Given the description of an element on the screen output the (x, y) to click on. 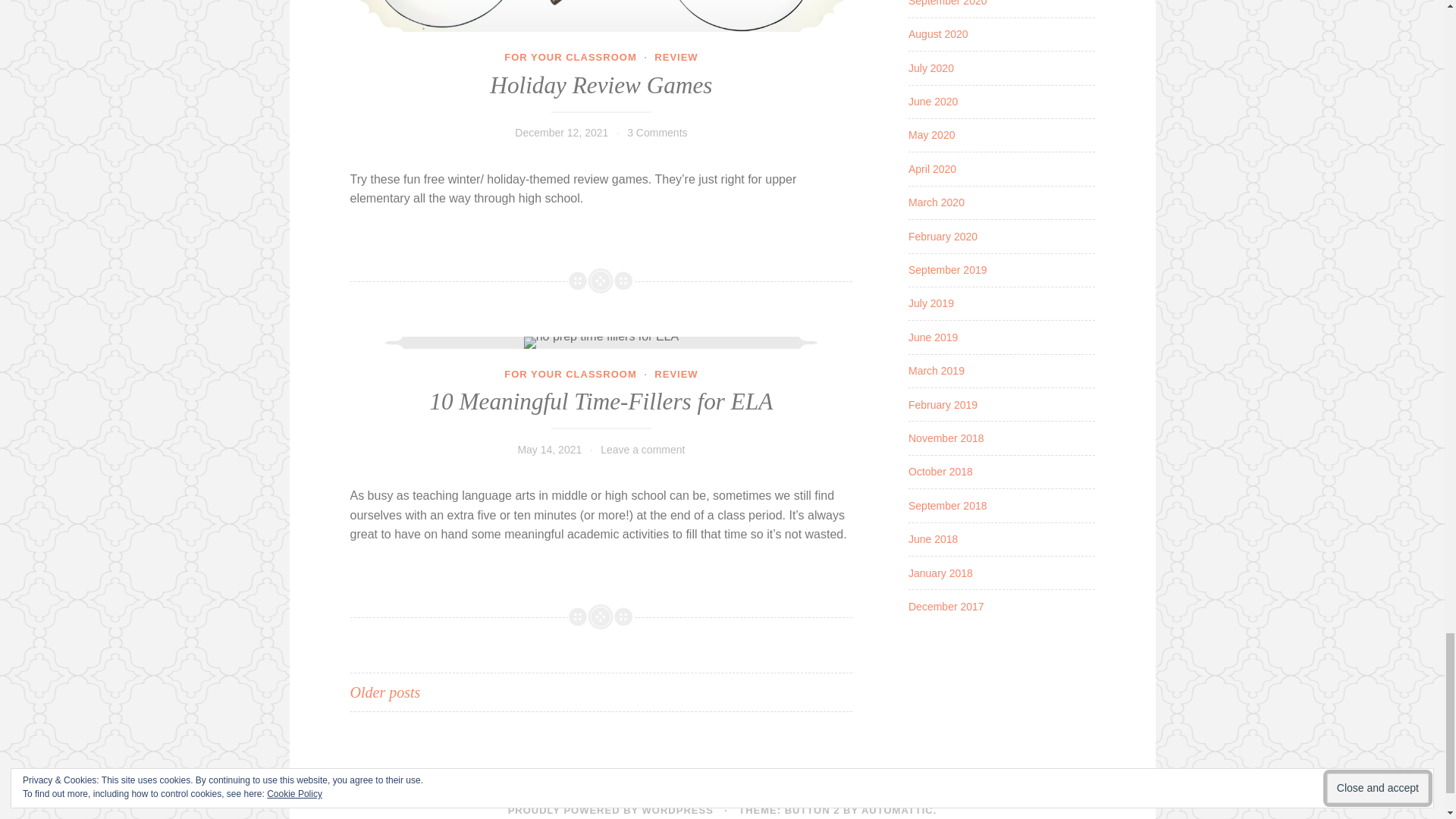
10 Meaningful Time-Fillers for ELA (601, 342)
3 Comments (657, 132)
Holiday Review Games (600, 85)
Holiday Review Games (601, 15)
December 12, 2021 (561, 132)
FOR YOUR CLASSROOM (570, 57)
Holiday Review Games (601, 15)
REVIEW (675, 57)
